Given the description of an element on the screen output the (x, y) to click on. 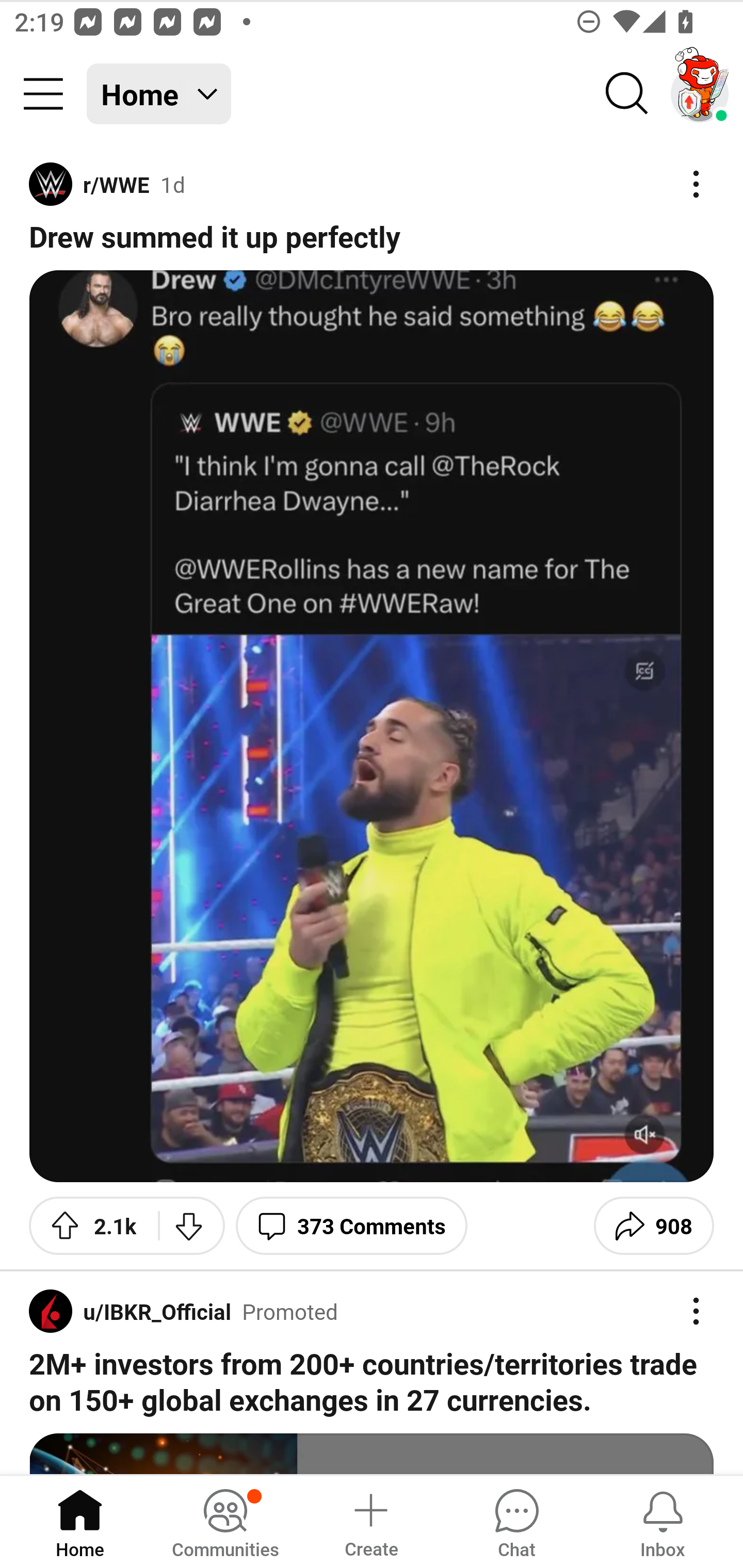
Community menu (43, 93)
Home Home feed (158, 93)
Search (626, 93)
TestAppium002 account (699, 93)
Home (80, 1520)
Communities, has notifications Communities (225, 1520)
Create a post Create (370, 1520)
Chat (516, 1520)
Inbox (662, 1520)
